Given the description of an element on the screen output the (x, y) to click on. 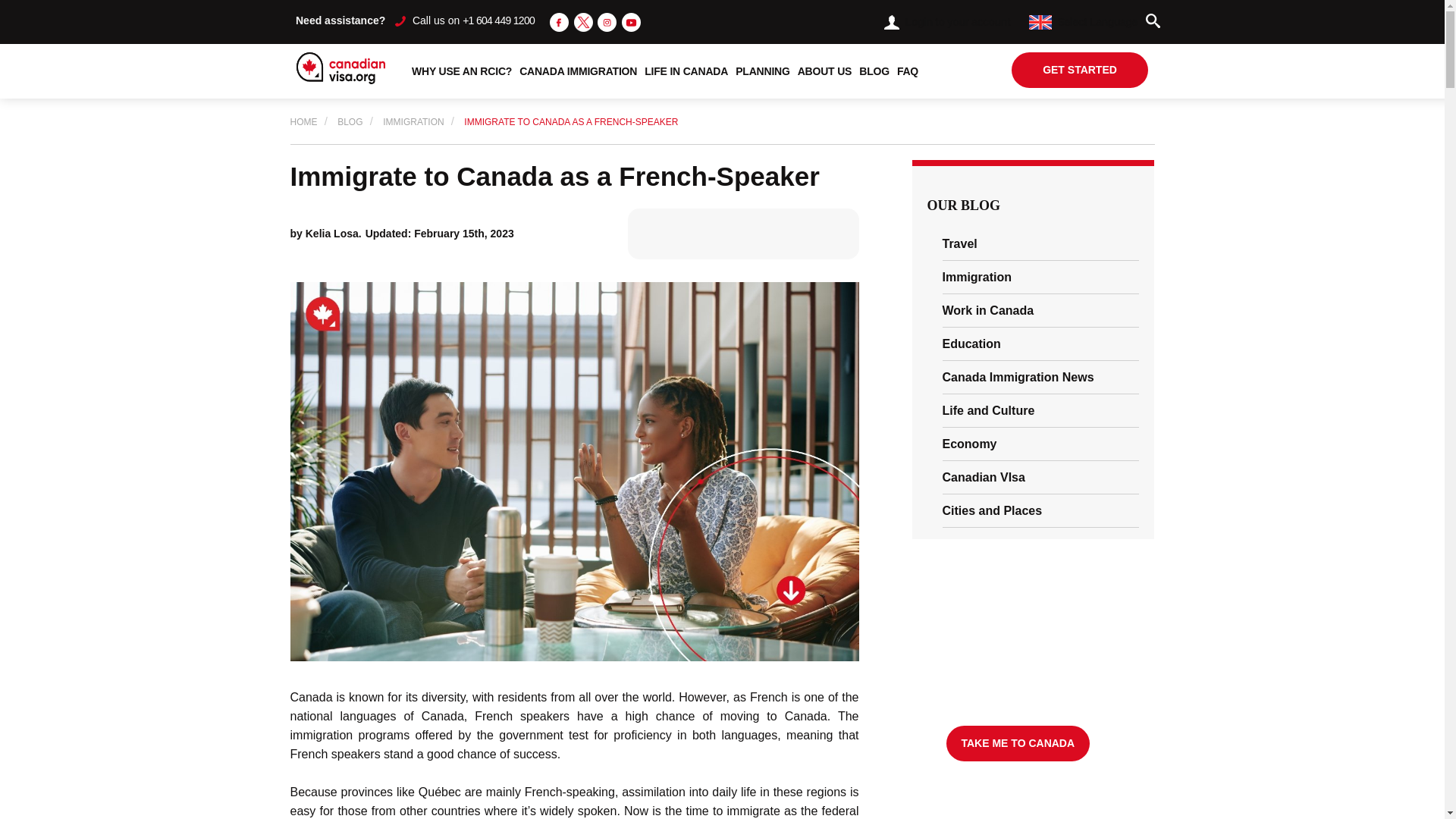
instagram (605, 21)
twitter (582, 21)
CANADA IMMIGRATION (577, 71)
Login to your account (946, 21)
facebook (559, 21)
WHY USE AN RCIC? (461, 71)
Need assistance? (340, 20)
profile (891, 22)
Select Language (1083, 21)
youtube (630, 21)
phone (400, 20)
language (1040, 22)
Need assistance? (340, 20)
facebook (559, 22)
twitter (582, 22)
